Given the description of an element on the screen output the (x, y) to click on. 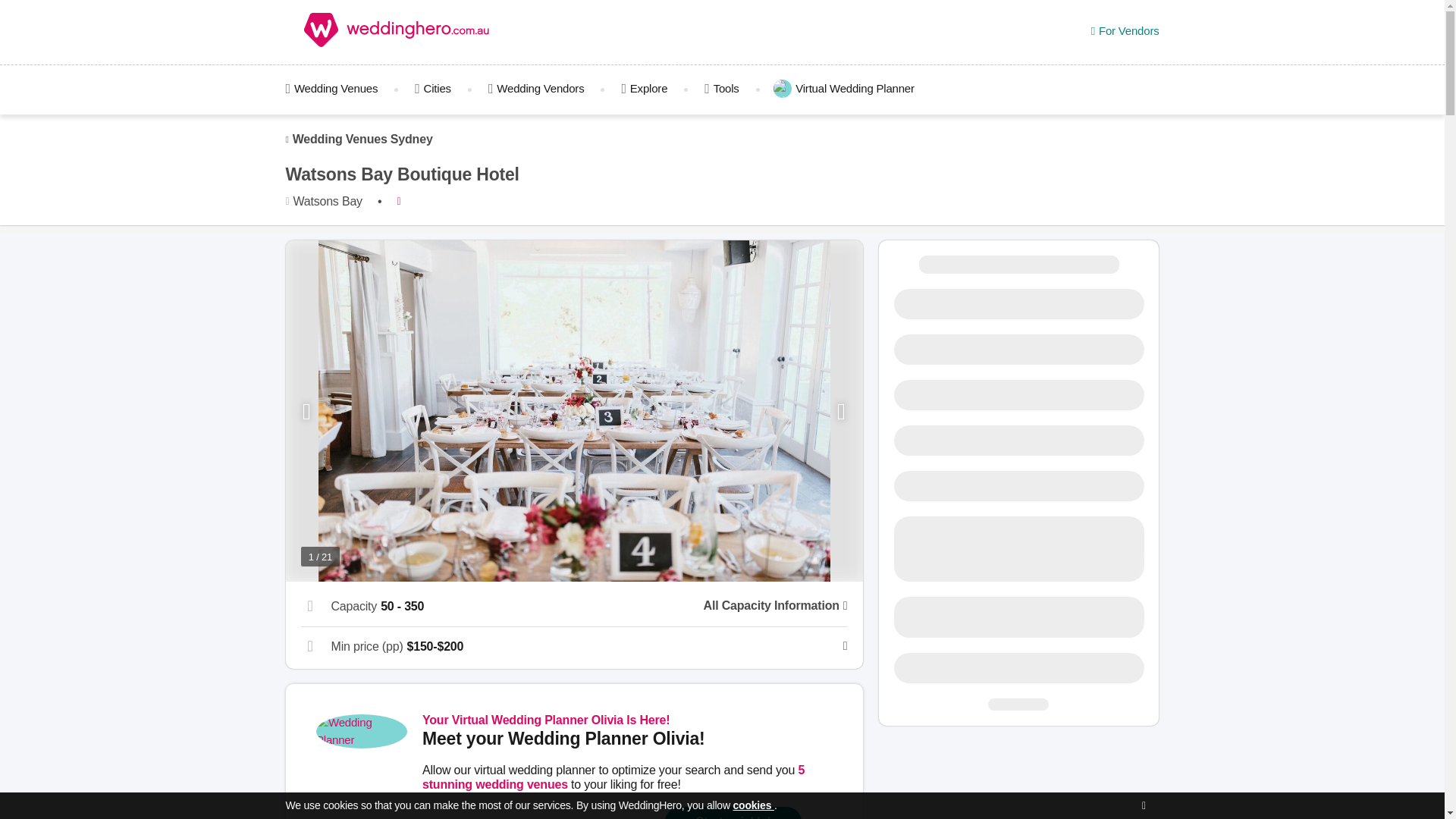
Cities (432, 88)
Wedding Vendors (536, 88)
WeddingHero.com.au (397, 32)
Wedding Venues (339, 88)
